Given the description of an element on the screen output the (x, y) to click on. 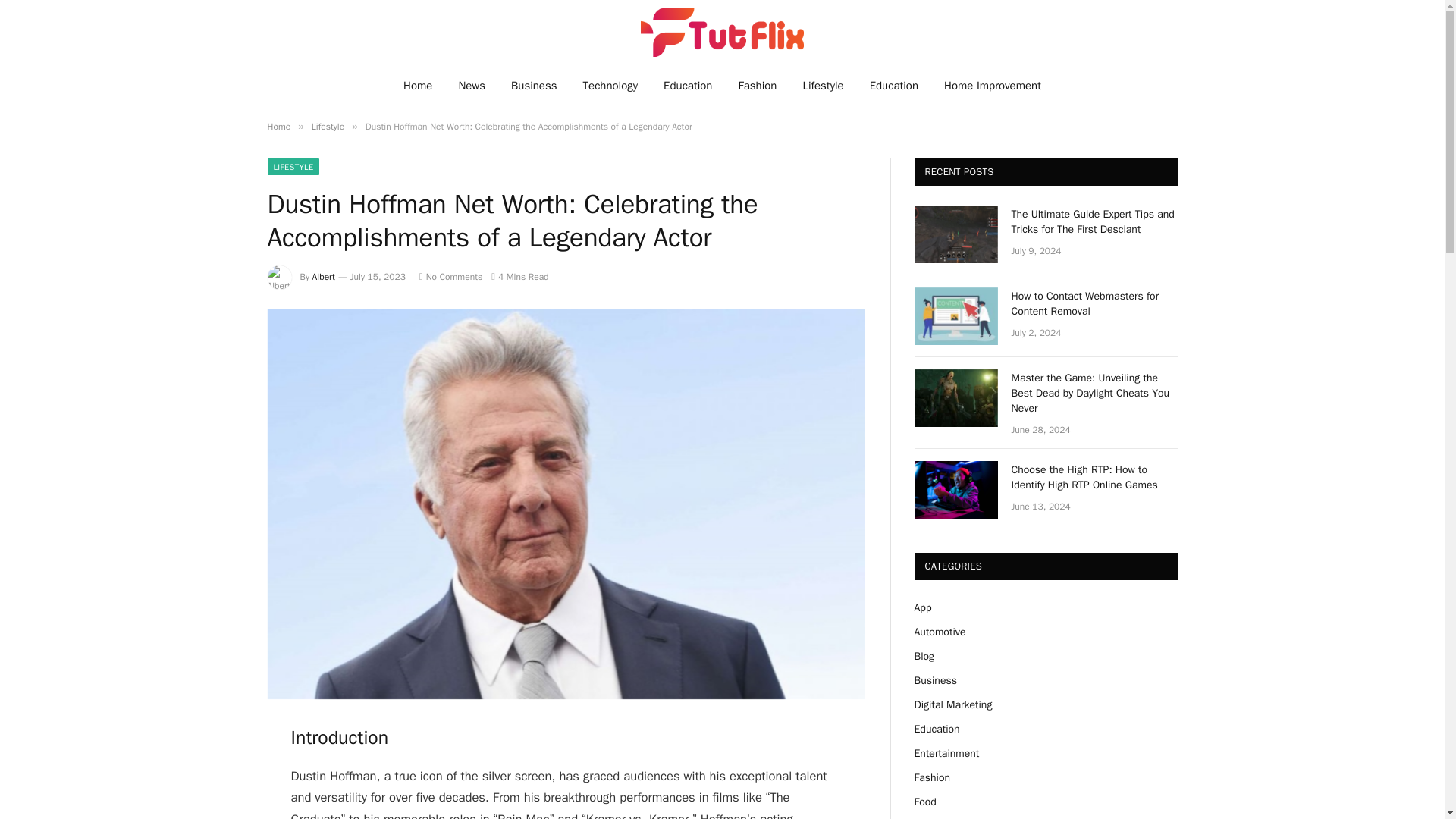
Education (894, 85)
Tut Flix (721, 32)
Albert (323, 276)
Posts by Albert (323, 276)
Lifestyle (327, 126)
Business (533, 85)
App (922, 607)
Education (687, 85)
Home Improvement (992, 85)
News (471, 85)
Fashion (757, 85)
Home (417, 85)
